Given the description of an element on the screen output the (x, y) to click on. 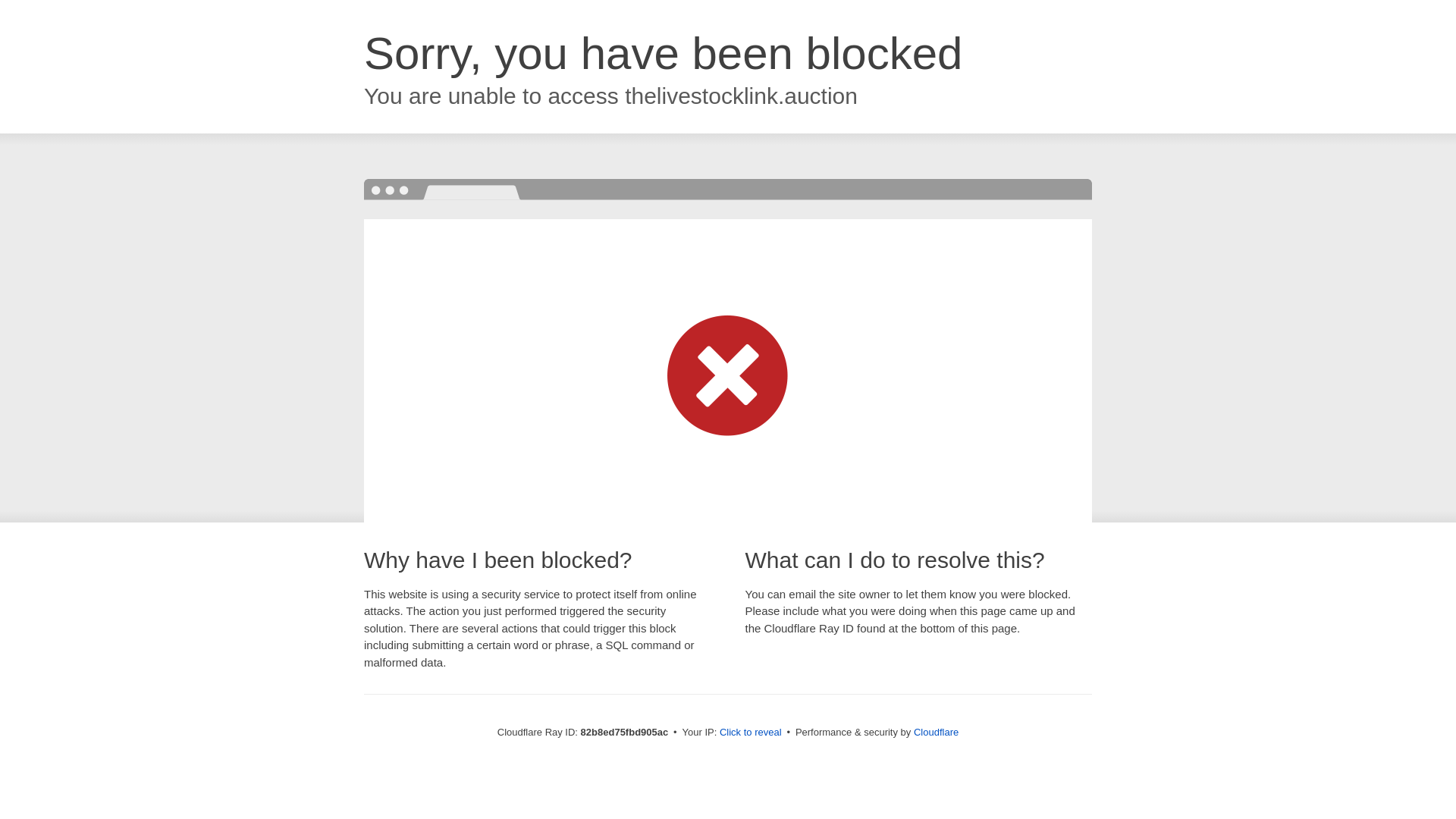
Cloudflare Element type: text (935, 731)
Click to reveal Element type: text (750, 732)
